Given the description of an element on the screen output the (x, y) to click on. 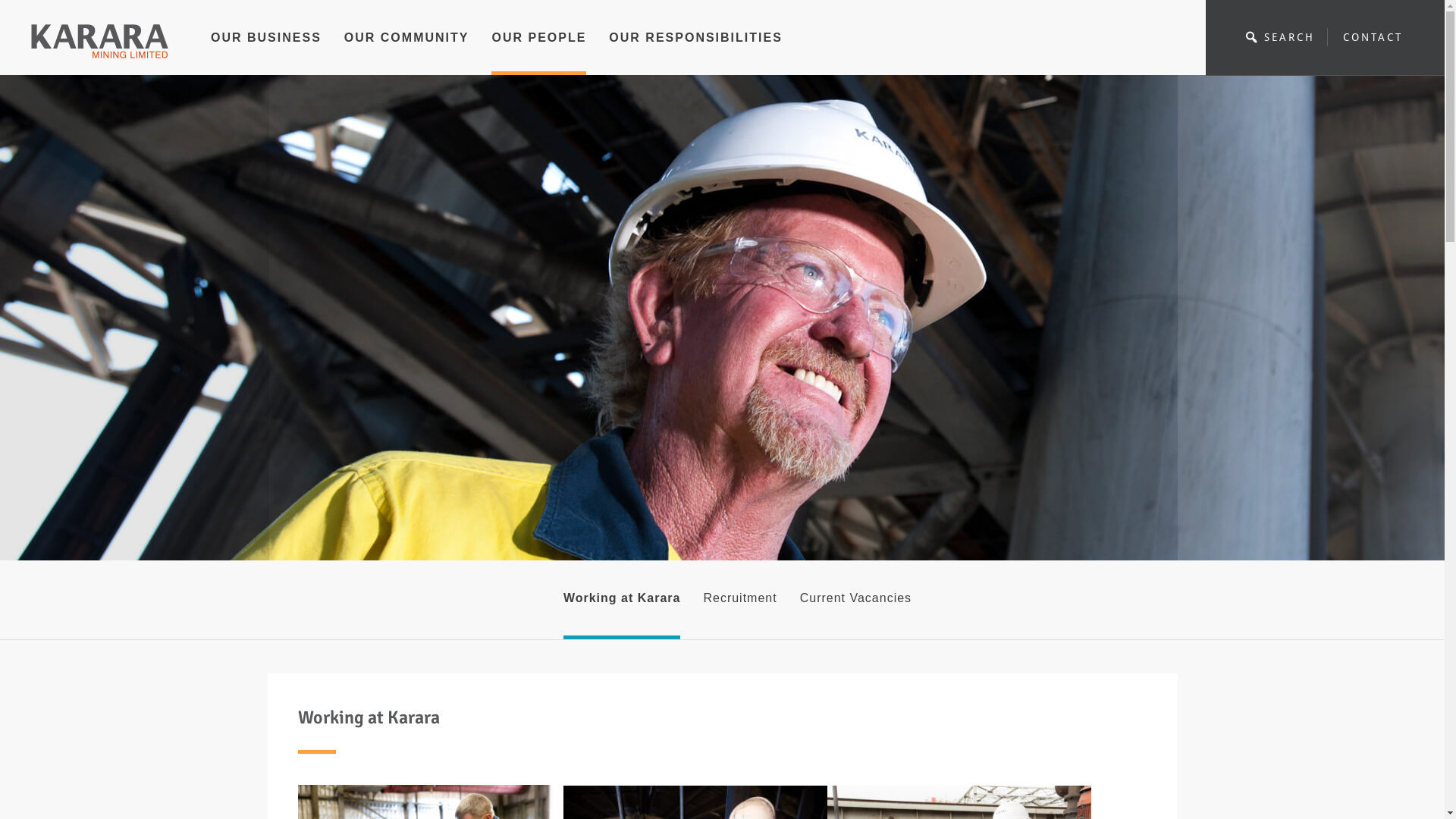
OUR PEOPLE Element type: text (538, 51)
OUR BUSINESS Element type: text (265, 51)
Current Vacancies Element type: text (855, 599)
OUR RESPONSIBILITIES Element type: text (694, 51)
Working at Karara Element type: text (621, 599)
Recruitment Element type: text (739, 599)
OUR COMMUNITY Element type: text (406, 51)
SEARCH Element type: text (1278, 36)
CONTACT Element type: text (1372, 37)
